Given the description of an element on the screen output the (x, y) to click on. 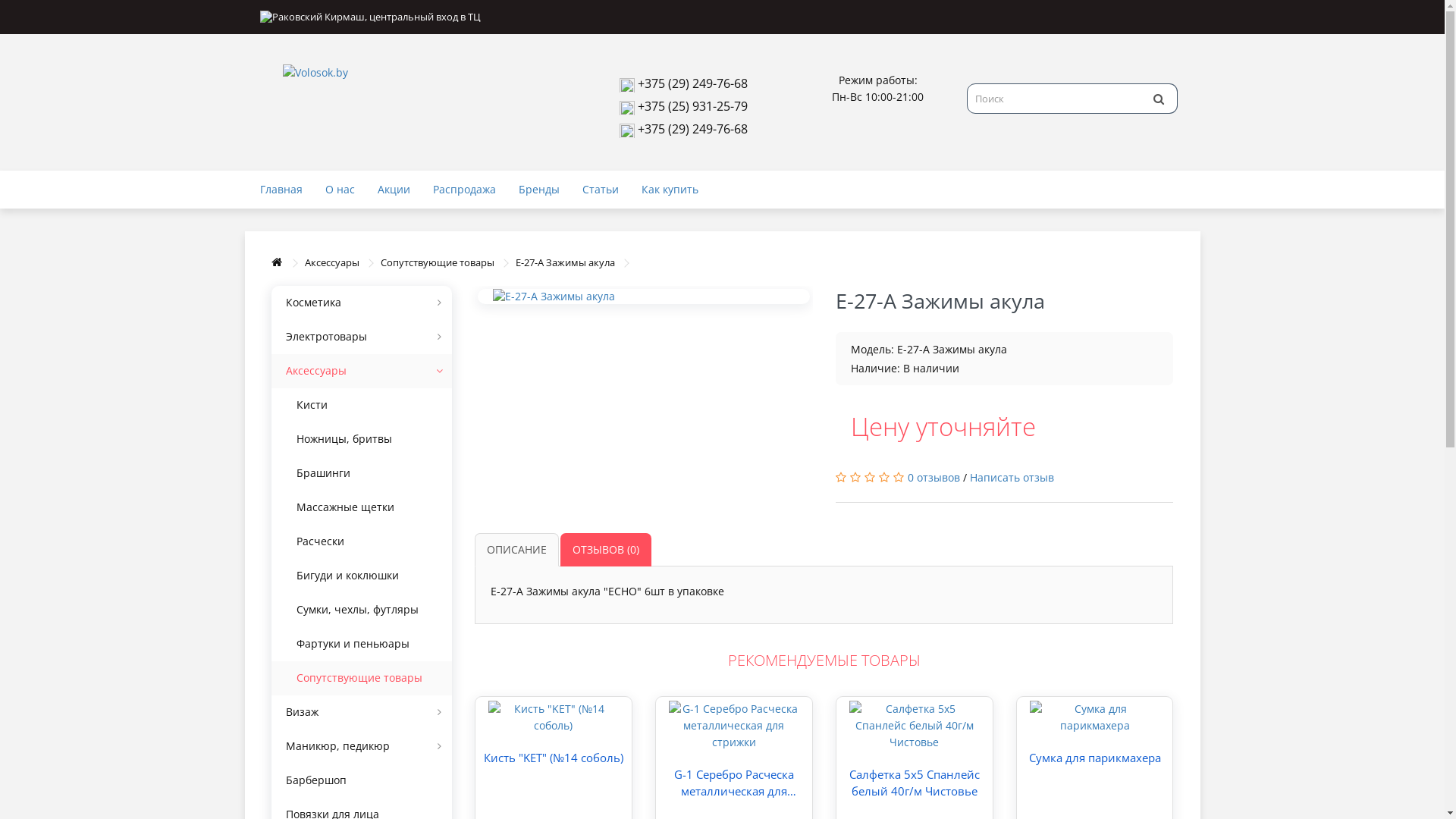
Volosok.by Element type: hover (410, 72)
